Given the description of an element on the screen output the (x, y) to click on. 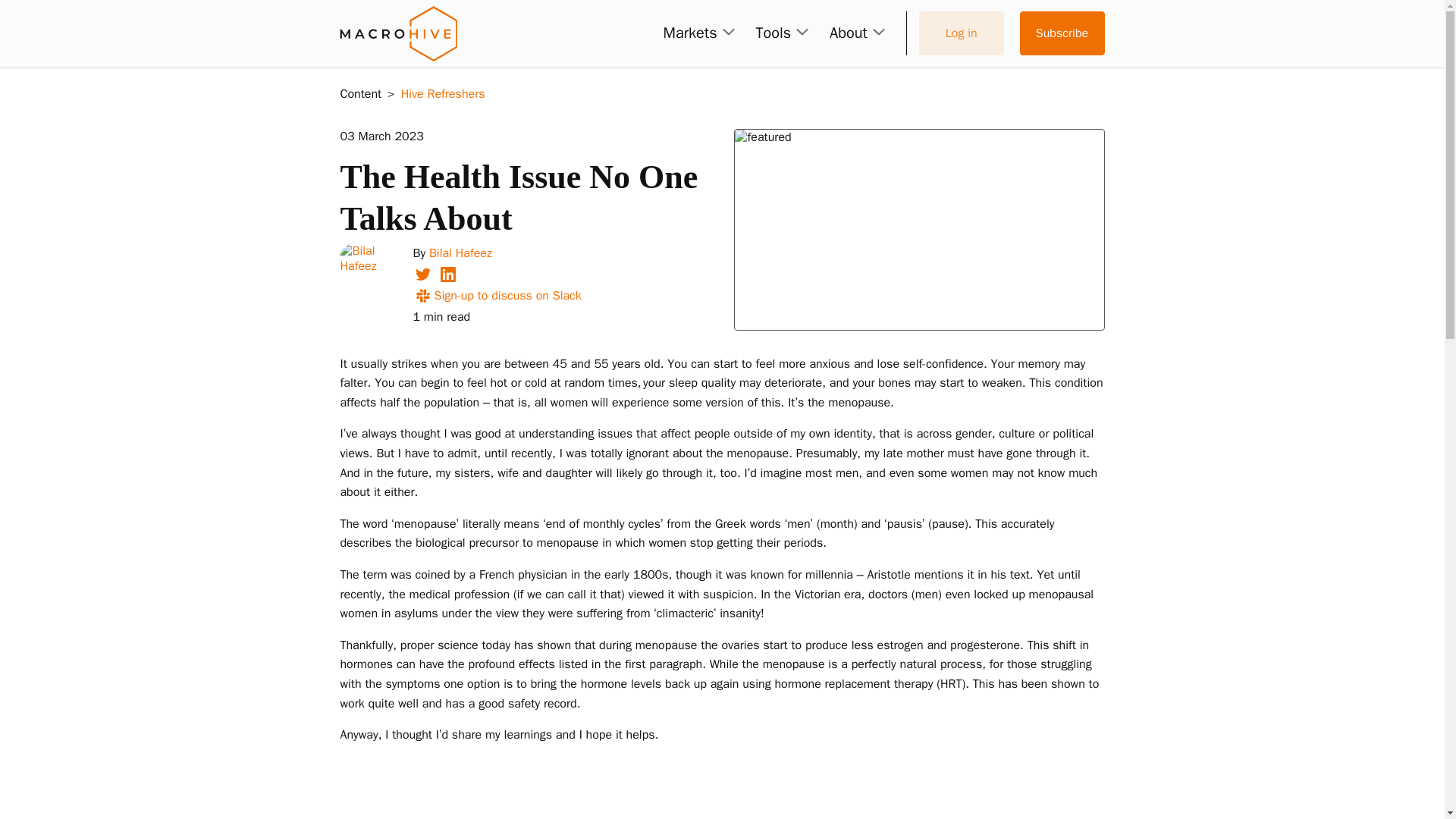
Hive Refreshers (442, 93)
Bilal Hafeez (460, 253)
Subscribe (1061, 33)
Log in (961, 33)
Sign-up to discuss on Slack (496, 295)
